Given the description of an element on the screen output the (x, y) to click on. 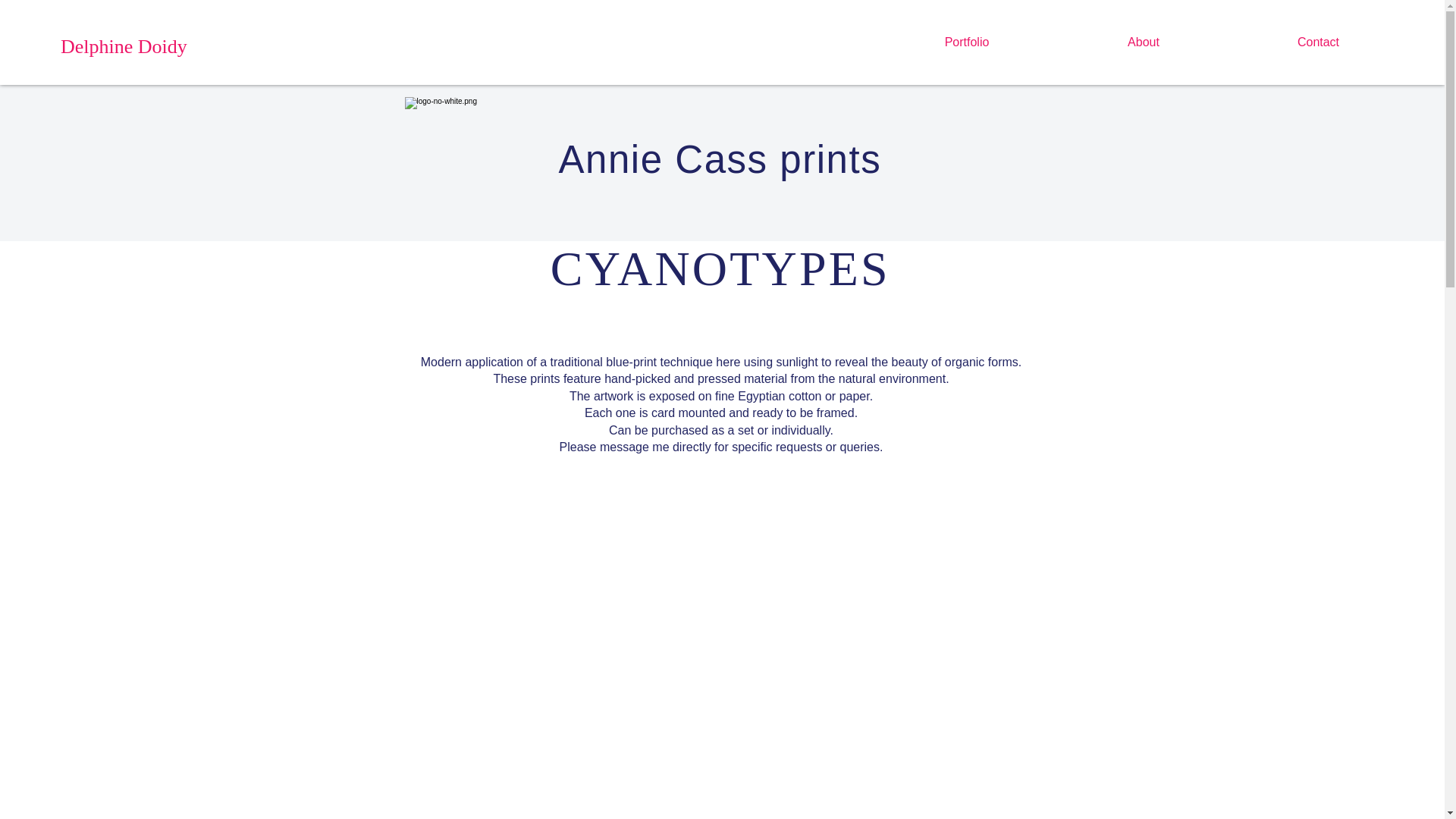
Portfolio (966, 42)
Delphine Doidy (124, 46)
Contact (1317, 42)
About (1143, 42)
